Given the description of an element on the screen output the (x, y) to click on. 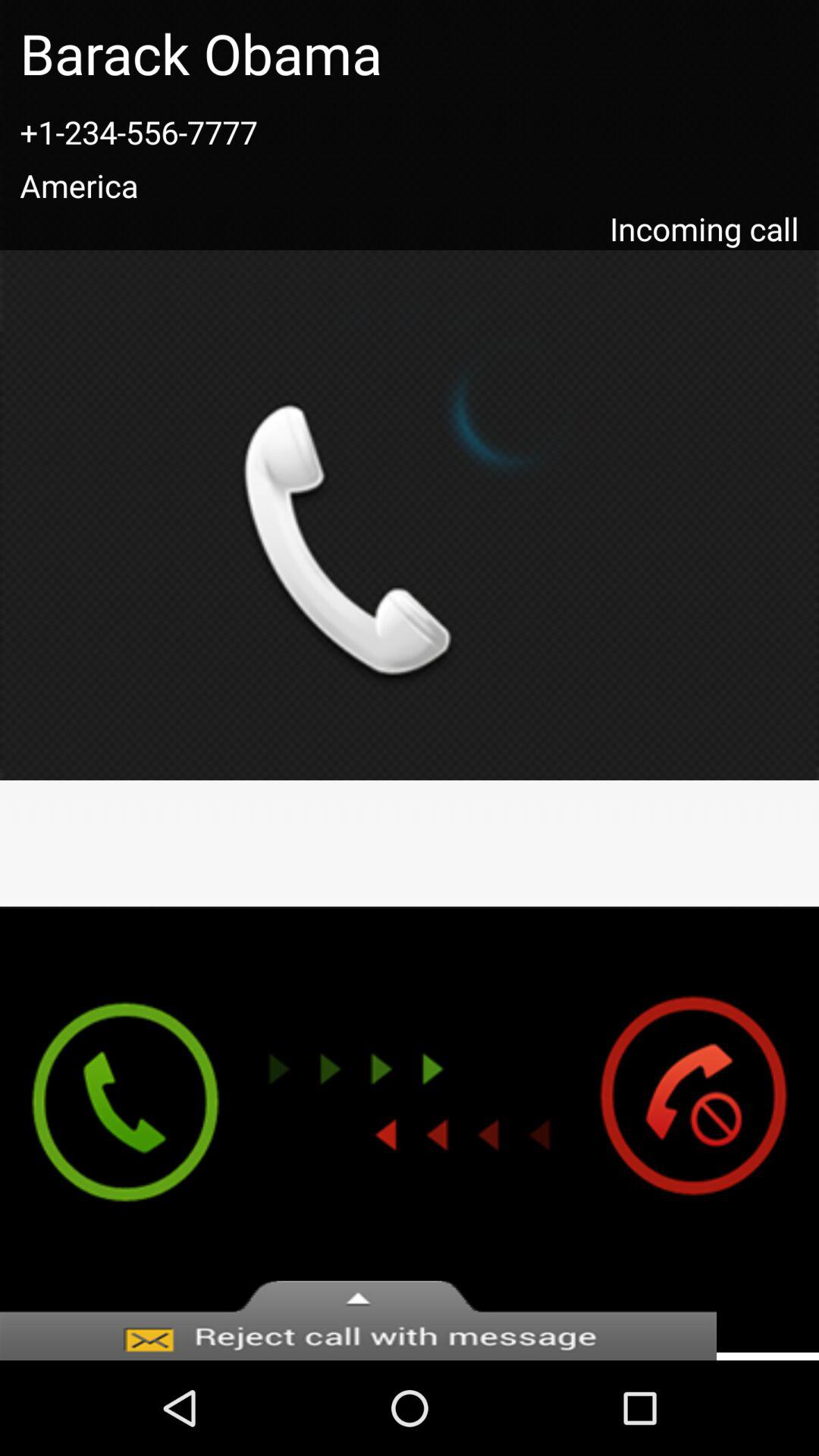
end call (707, 1129)
